Given the description of an element on the screen output the (x, y) to click on. 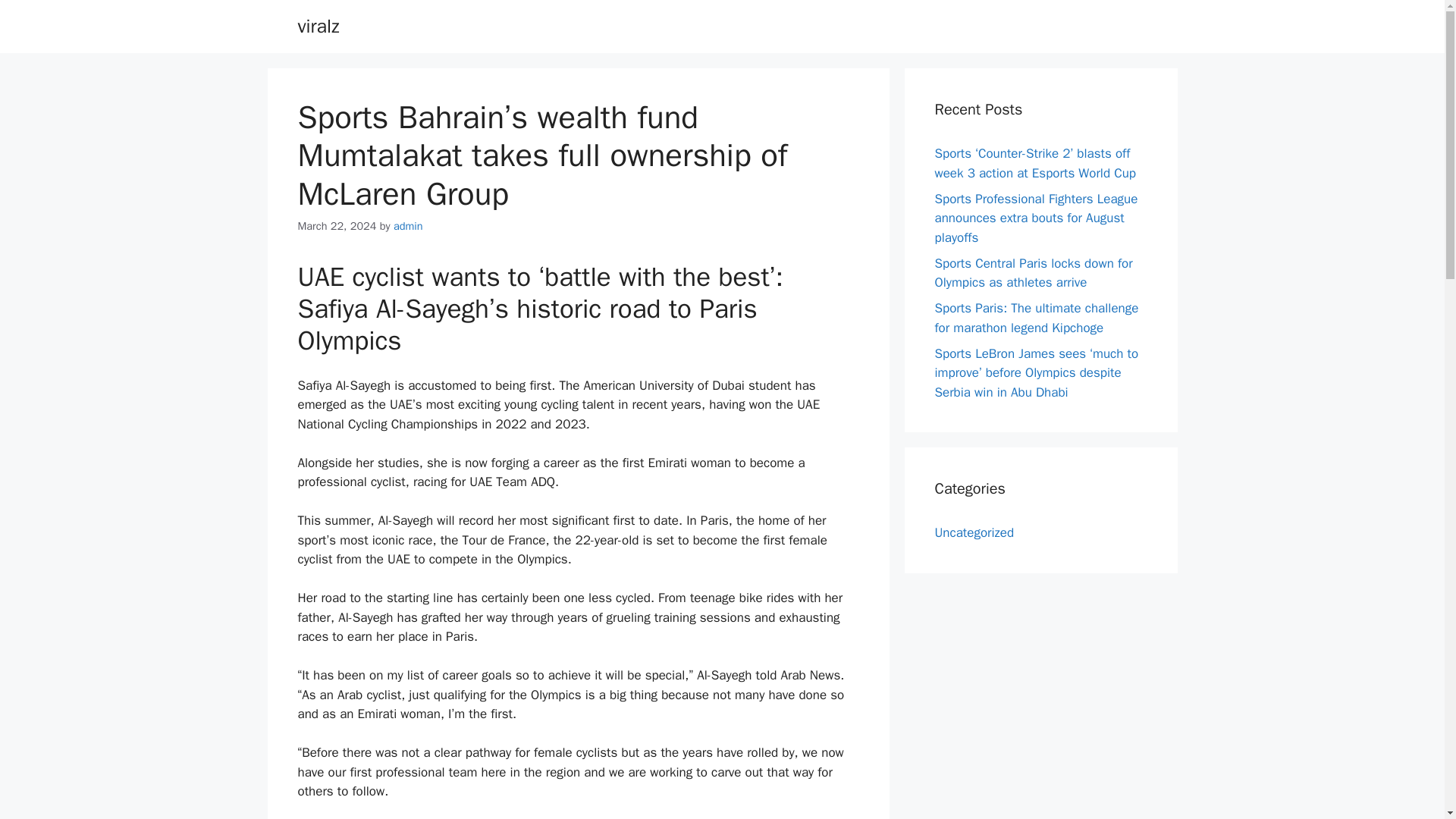
viralz (318, 25)
admin (408, 225)
Uncategorized (973, 532)
View all posts by admin (408, 225)
